Given the description of an element on the screen output the (x, y) to click on. 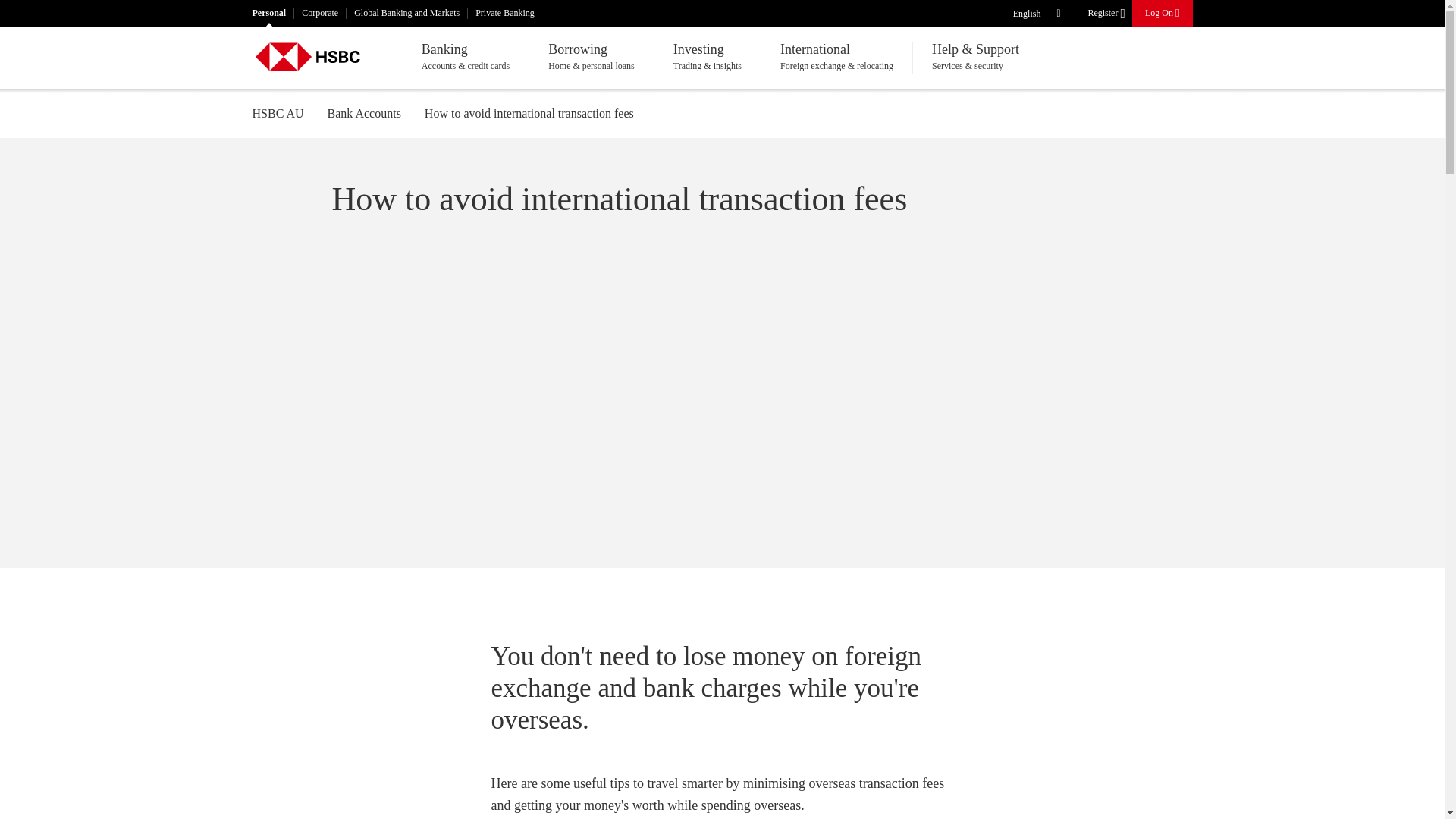
Global Banking and Markets (406, 12)
Log On (1162, 12)
Register   (1104, 13)
Private Banking (504, 12)
Corporate (320, 12)
Personal (269, 12)
